Given the description of an element on the screen output the (x, y) to click on. 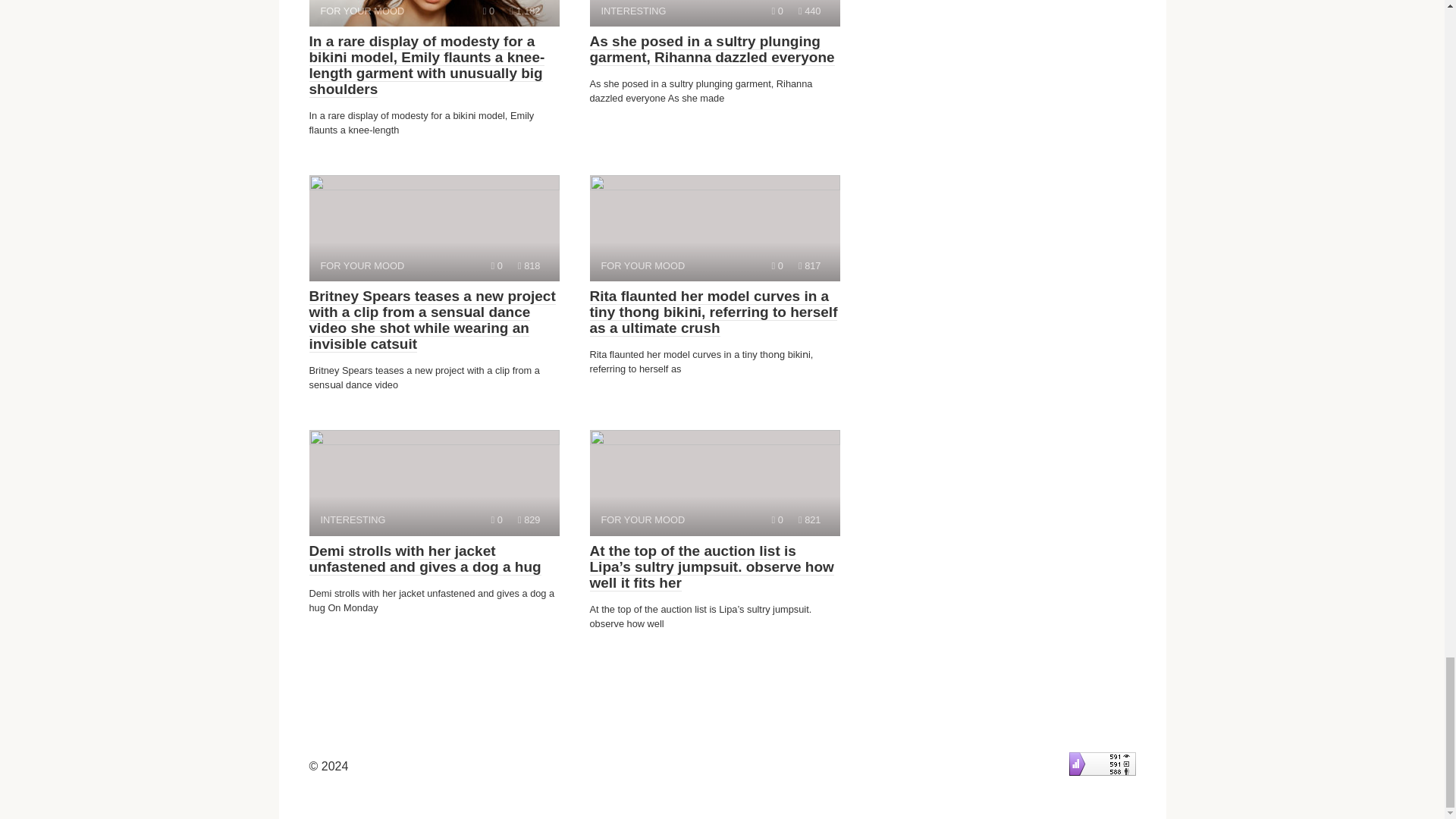
Views (809, 519)
Comments (777, 519)
Comments (489, 10)
Views (524, 10)
Views (433, 228)
Comments (529, 265)
Views (497, 265)
